Given the description of an element on the screen output the (x, y) to click on. 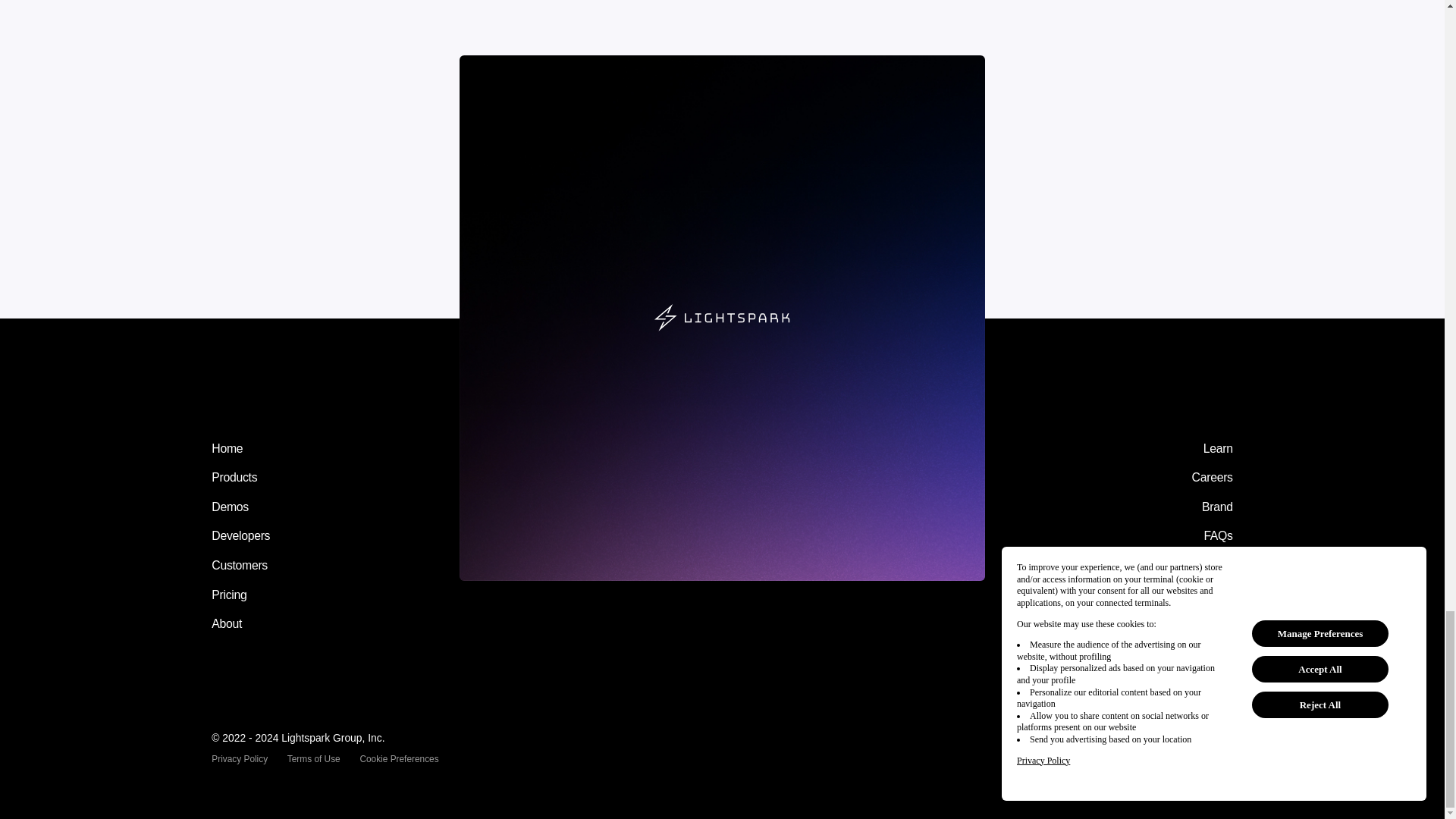
Products (234, 477)
Demos (229, 507)
Pricing (228, 594)
Home (227, 448)
LinkedIn (1186, 748)
About (226, 623)
Customers (239, 565)
Twitter (1149, 748)
GitHub (1223, 748)
